Given the description of an element on the screen output the (x, y) to click on. 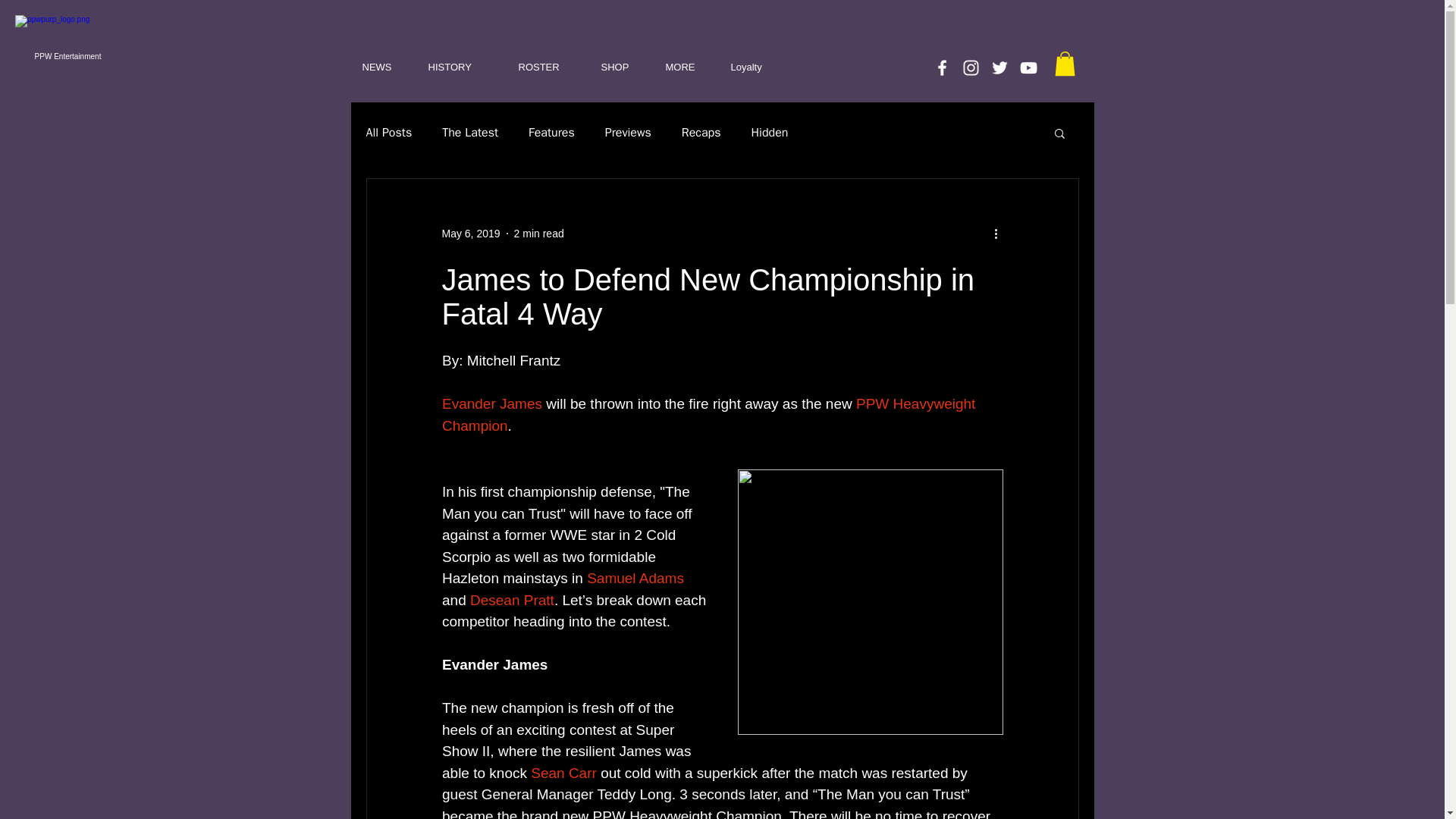
Previews (627, 132)
MORE (686, 67)
2 min read (538, 233)
The Latest (469, 132)
HISTORY (461, 67)
Evander James (491, 403)
May 6, 2019 (470, 233)
PPW Entertainment (67, 56)
Sean Carr  (565, 772)
NEWS (383, 67)
